Given the description of an element on the screen output the (x, y) to click on. 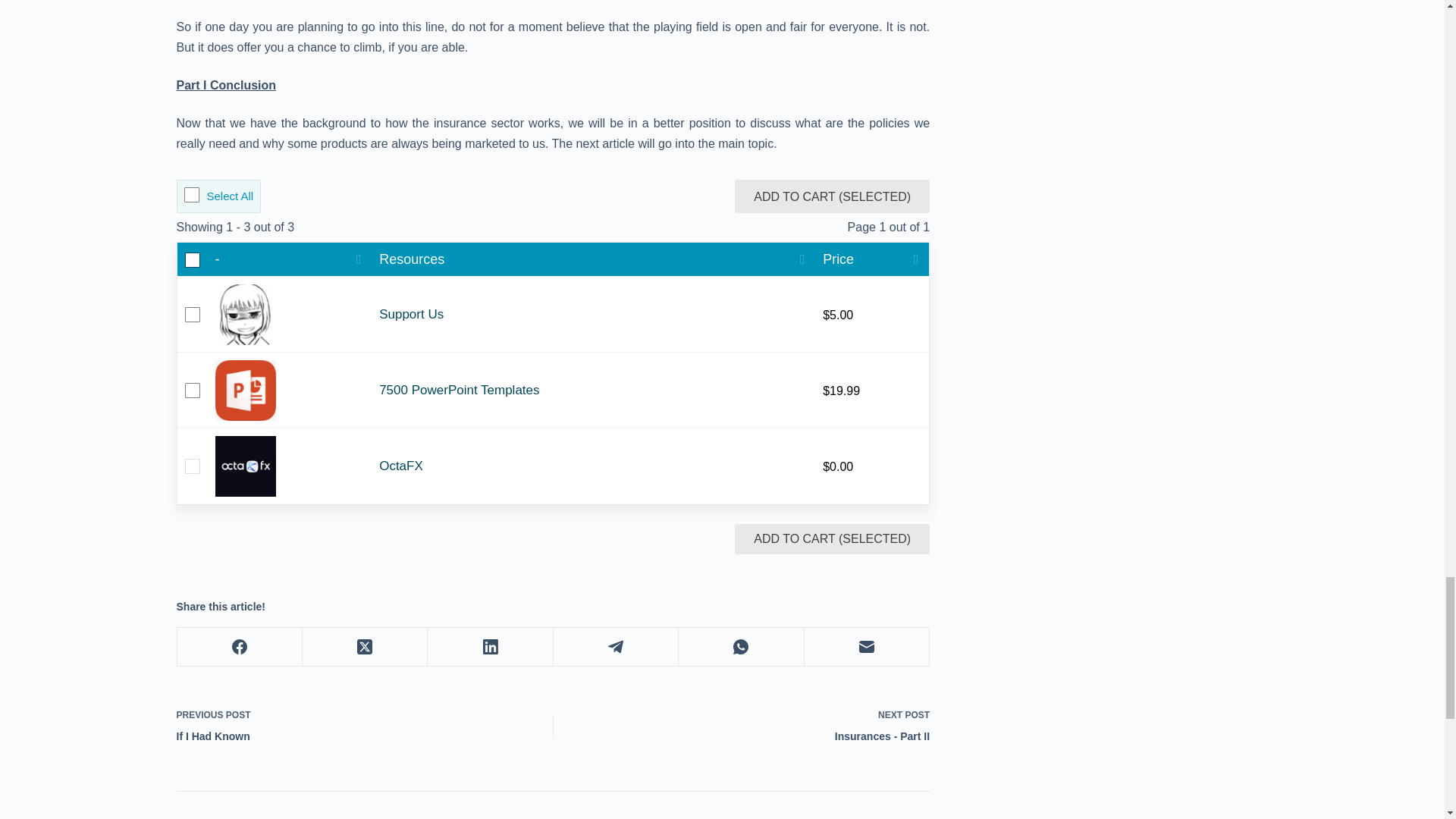
OctaFX (593, 465)
7500 PowerPoint Templates (593, 390)
Support Us (756, 724)
